Given the description of an element on the screen output the (x, y) to click on. 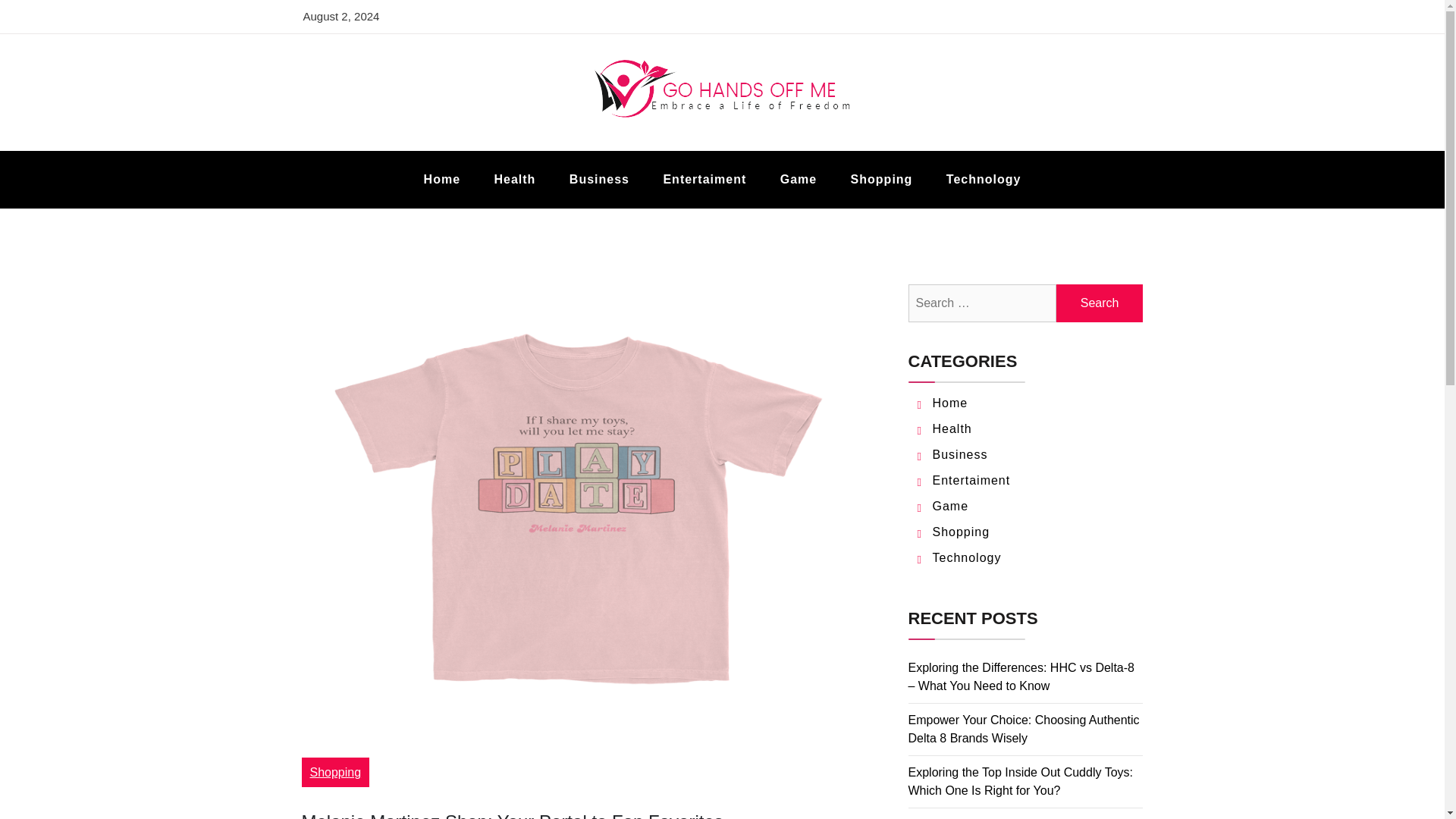
Entertaiment (704, 179)
Entertaiment (971, 480)
Health (952, 428)
Search (1099, 303)
Game (798, 179)
Game (951, 505)
Business (960, 454)
Business (599, 179)
Shopping (881, 179)
Technology (983, 179)
